Given the description of an element on the screen output the (x, y) to click on. 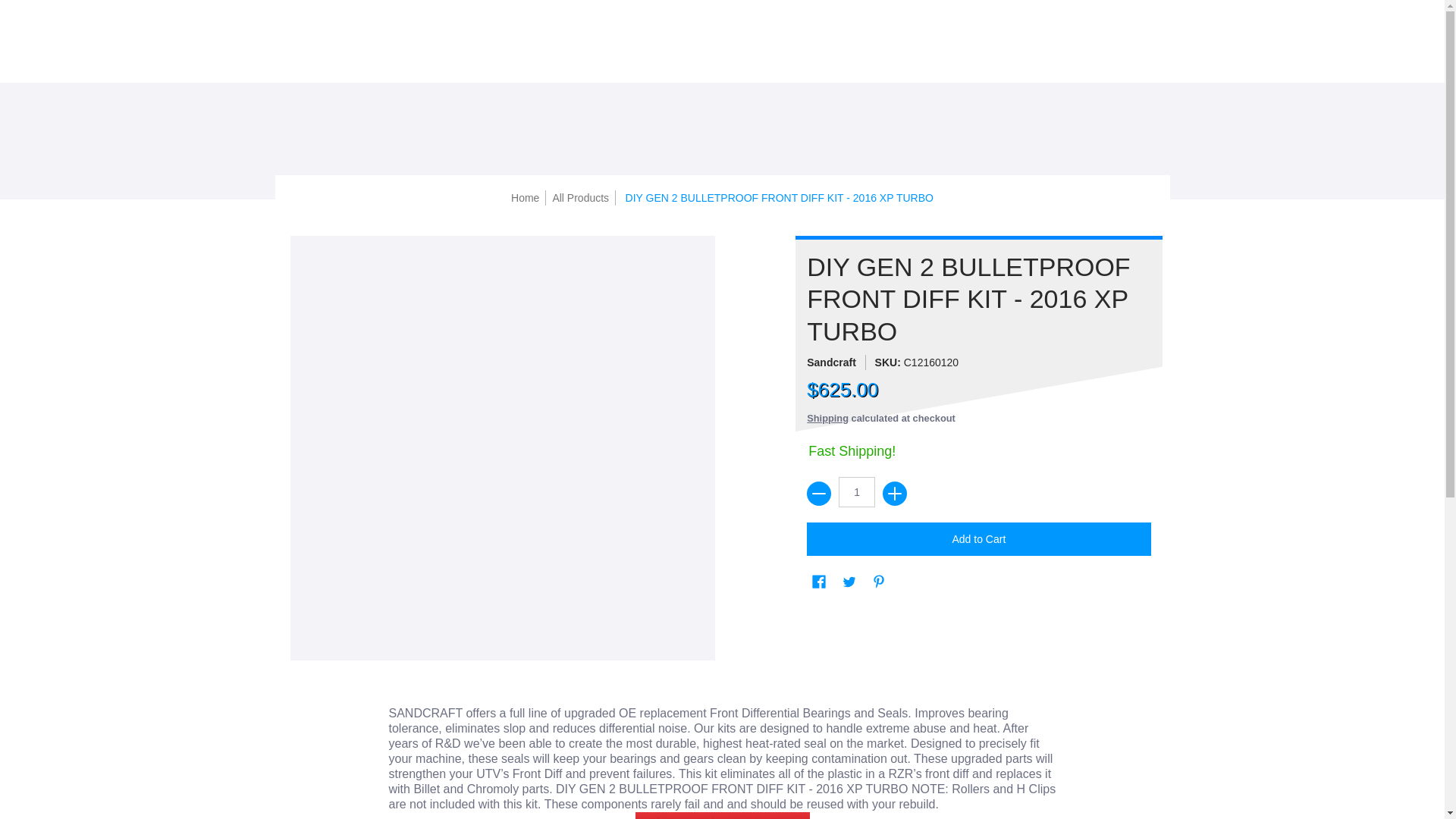
1 (856, 491)
